Given the description of an element on the screen output the (x, y) to click on. 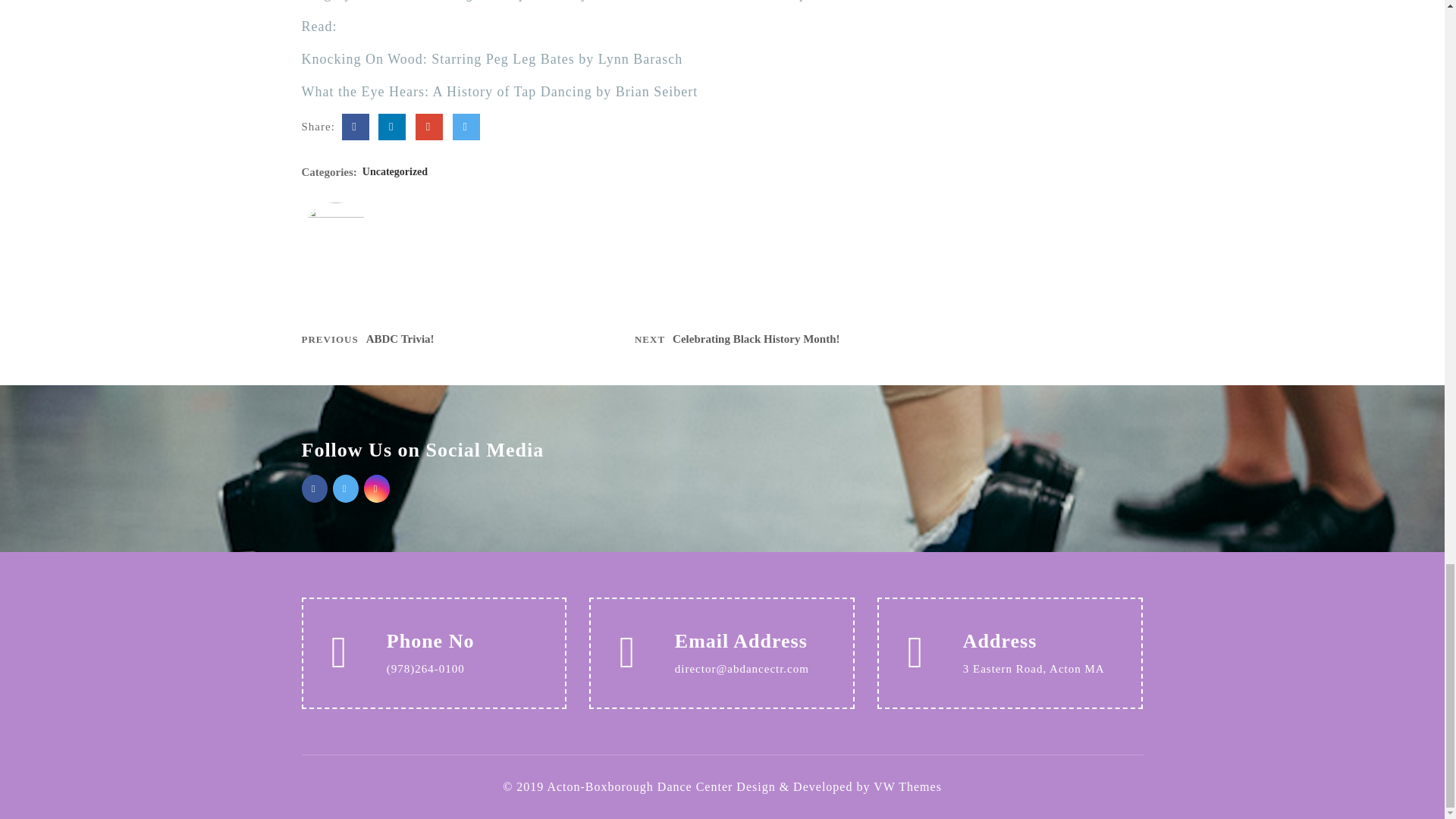
VW Themes (904, 786)
Uncategorized (371, 342)
